Given the description of an element on the screen output the (x, y) to click on. 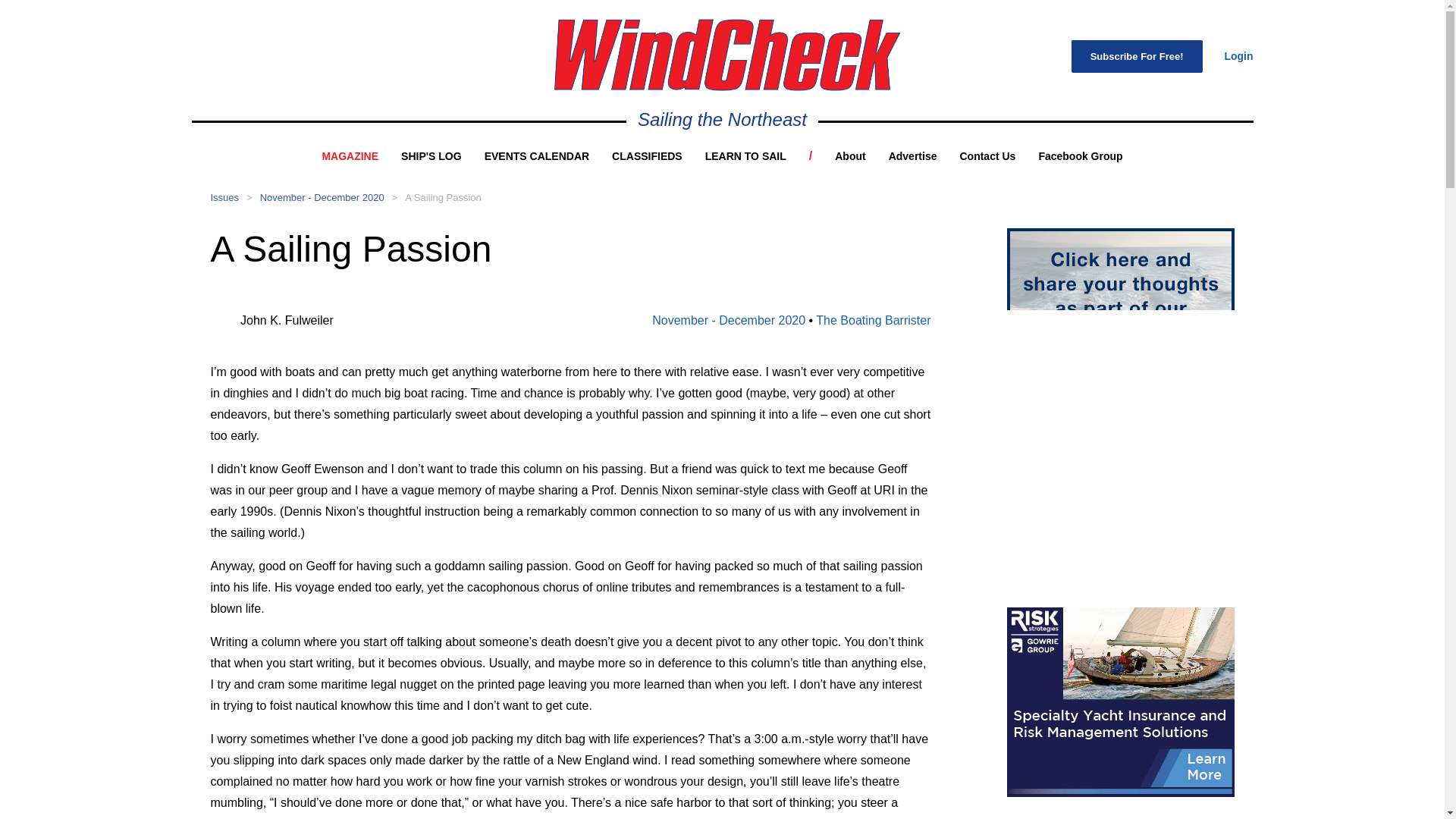
LEARN TO SAIL (745, 155)
A Sailing Passion (442, 197)
MAGAZINE (349, 155)
Go to the November - December 2020 Issue archives. (322, 197)
WindCheck Magazine (727, 54)
Go to A Sailing Passion. (442, 197)
Subscribe For Free! (1136, 56)
SHIP'S LOG (431, 155)
Advertise (912, 155)
November - December 2020 (728, 319)
The Boating Barrister (872, 319)
Facebook Group (1080, 155)
Login (1238, 55)
EVENTS CALENDAR (536, 155)
Go to Issues. (225, 197)
